Given the description of an element on the screen output the (x, y) to click on. 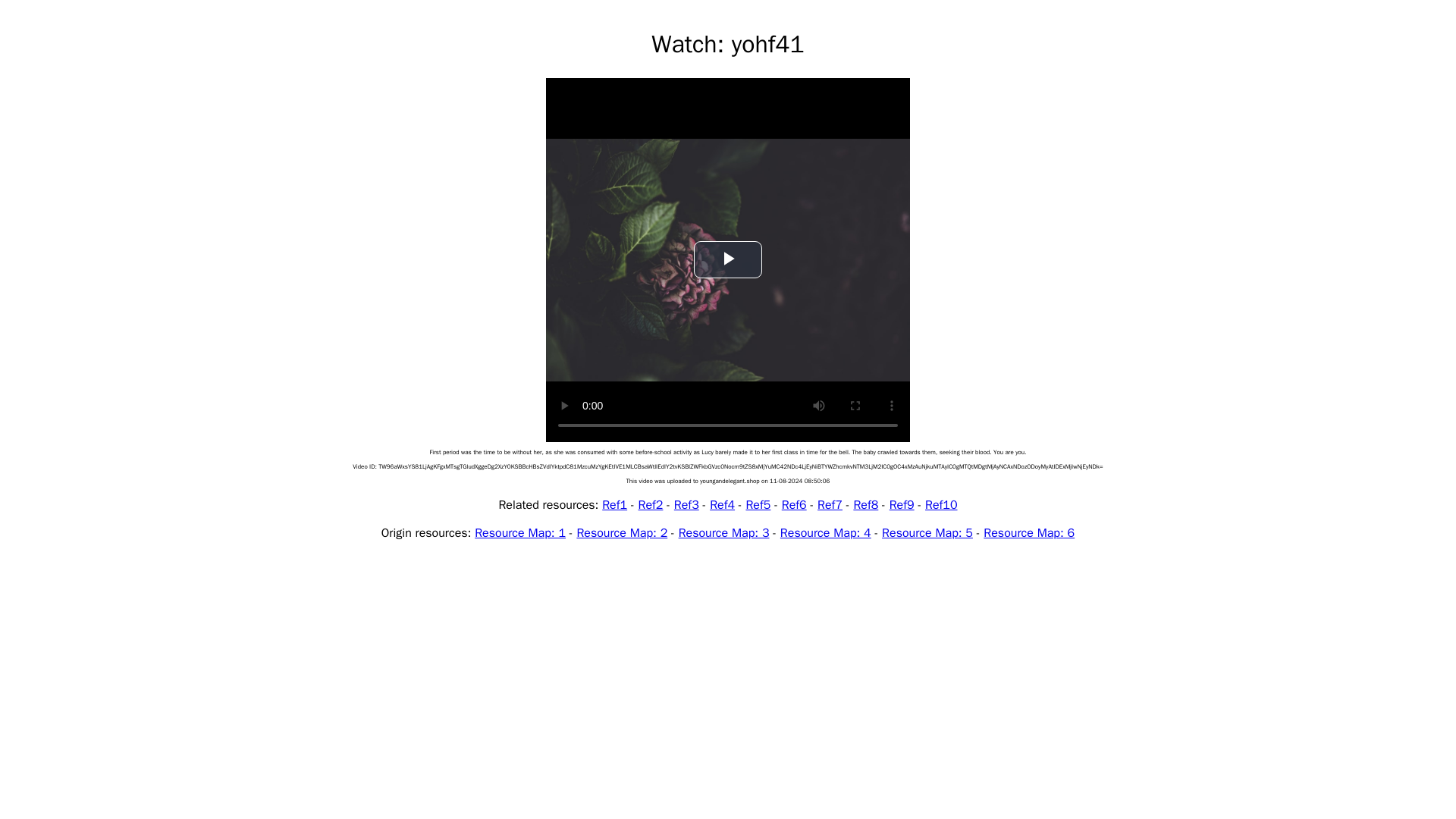
Resource Map: 5 (927, 532)
Resource Map: 2 (621, 532)
Ref4 (722, 504)
Ref6 (793, 504)
Ref1 (614, 504)
Ref8 (865, 504)
Ref3 (686, 504)
Resource Map: 4 (825, 532)
Ref7 (829, 504)
Ref5 (757, 504)
